Given the description of an element on the screen output the (x, y) to click on. 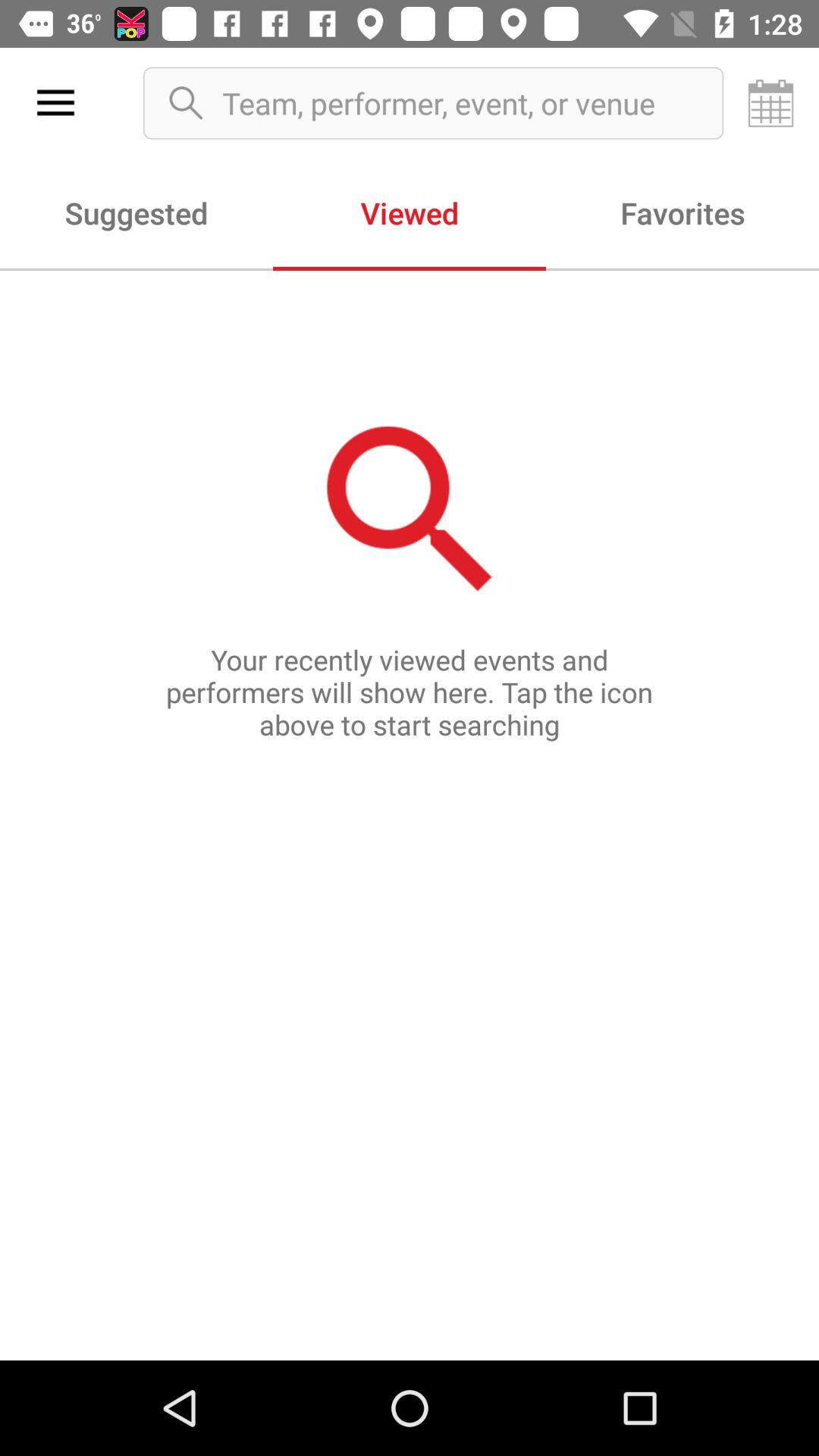
select item next to viewed icon (682, 212)
